Given the description of an element on the screen output the (x, y) to click on. 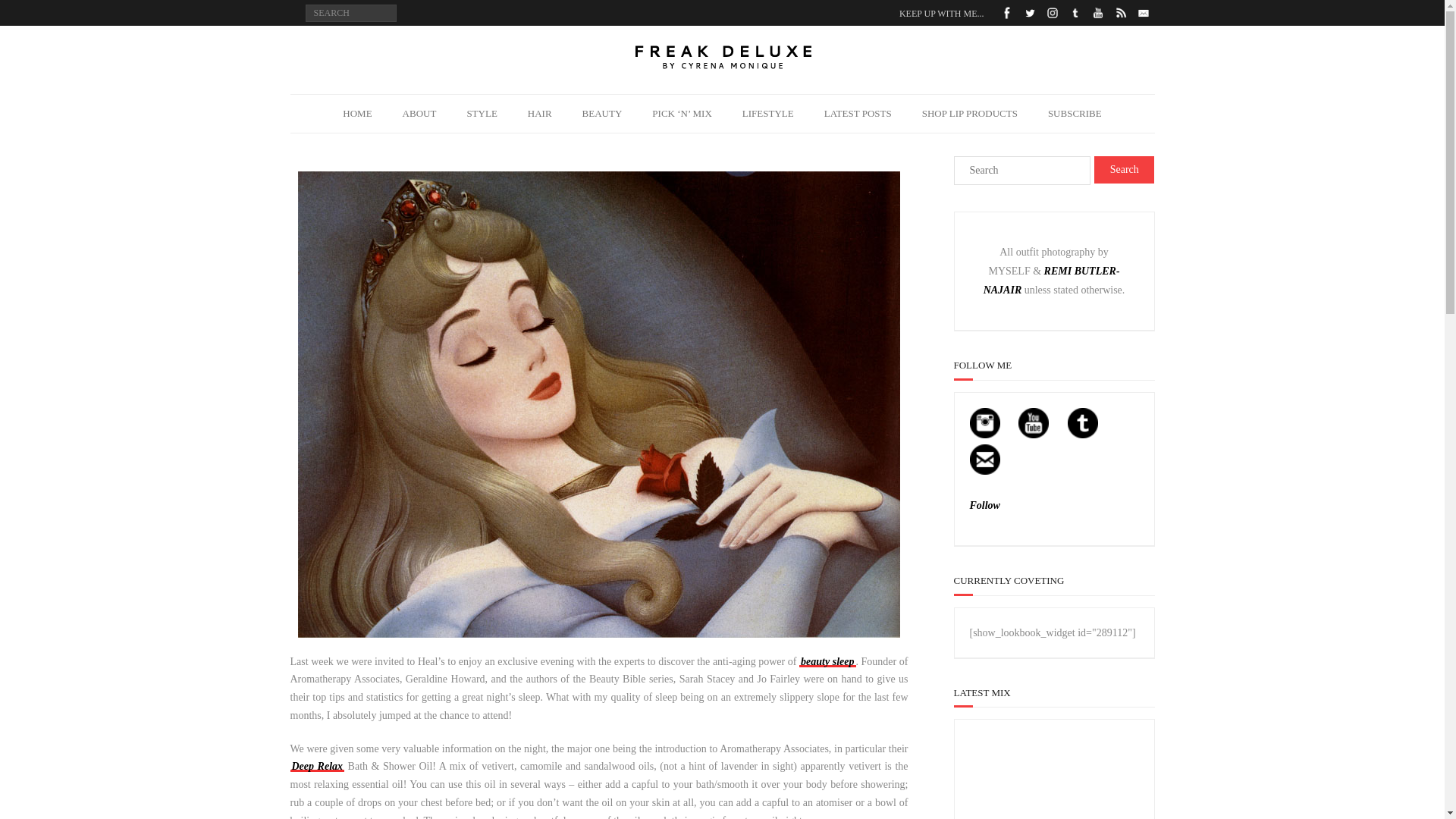
SHOP LIP PRODUCTS (969, 113)
beauty sleep (827, 660)
LATEST POSTS (858, 113)
Search (29, 13)
12 TIPS TO GET TO SLEEP FAST (827, 660)
Search (1124, 169)
BEAUTY (602, 113)
SUBSCRIBE (1074, 113)
Search (1124, 169)
ABOUT (419, 113)
HOME (357, 113)
STYLE (481, 113)
HAIR (539, 113)
LIFESTYLE (767, 113)
Deep Relax (316, 766)
